Given the description of an element on the screen output the (x, y) to click on. 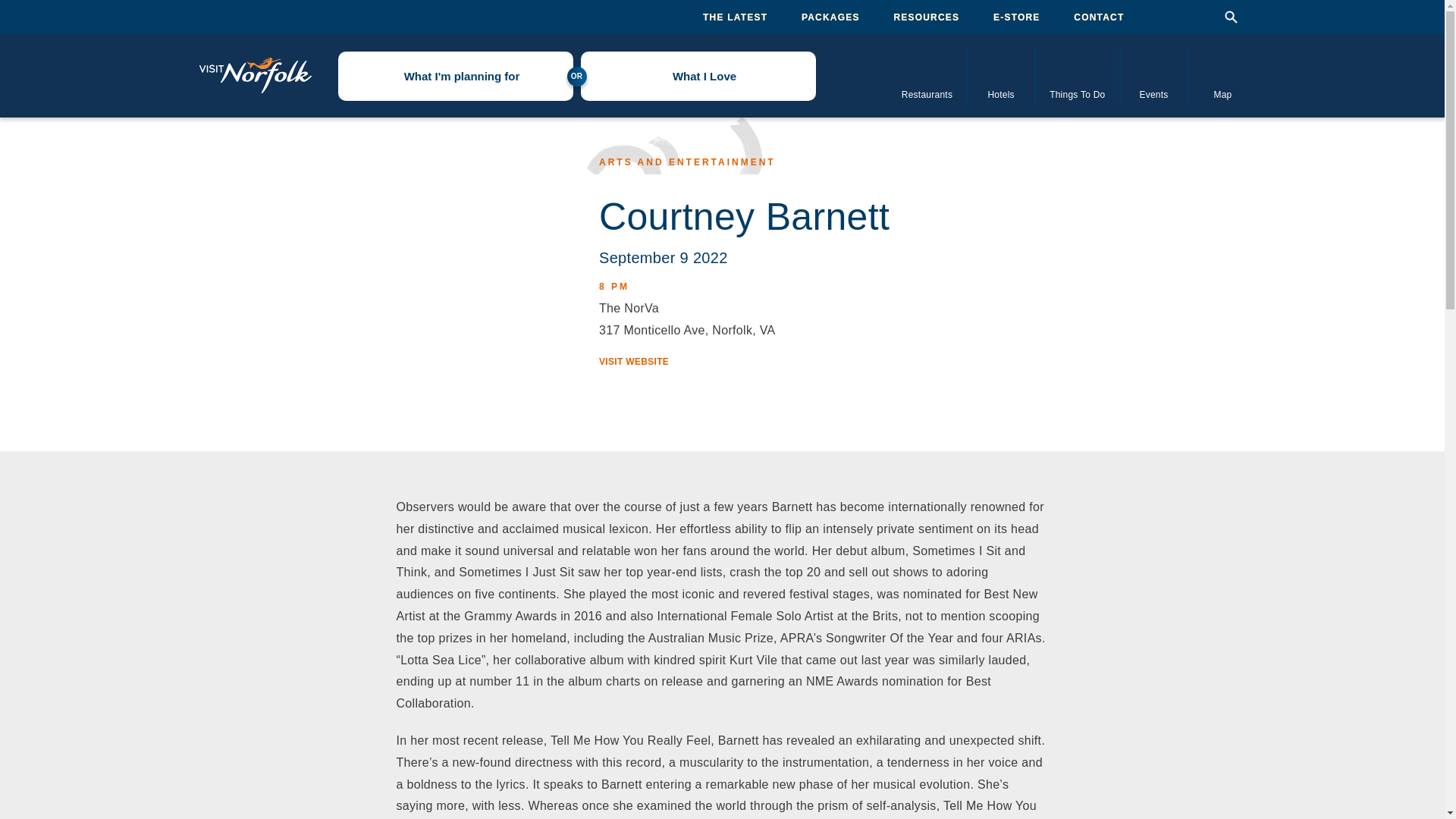
PACKAGES (831, 17)
Map (1223, 75)
RESOURCES (926, 17)
CONTACT (1099, 17)
Search (1230, 16)
E-STORE (1016, 17)
What I Love (697, 75)
Hotels (1001, 75)
Things To Do (1077, 75)
Visit Norfolk (254, 75)
